Given the description of an element on the screen output the (x, y) to click on. 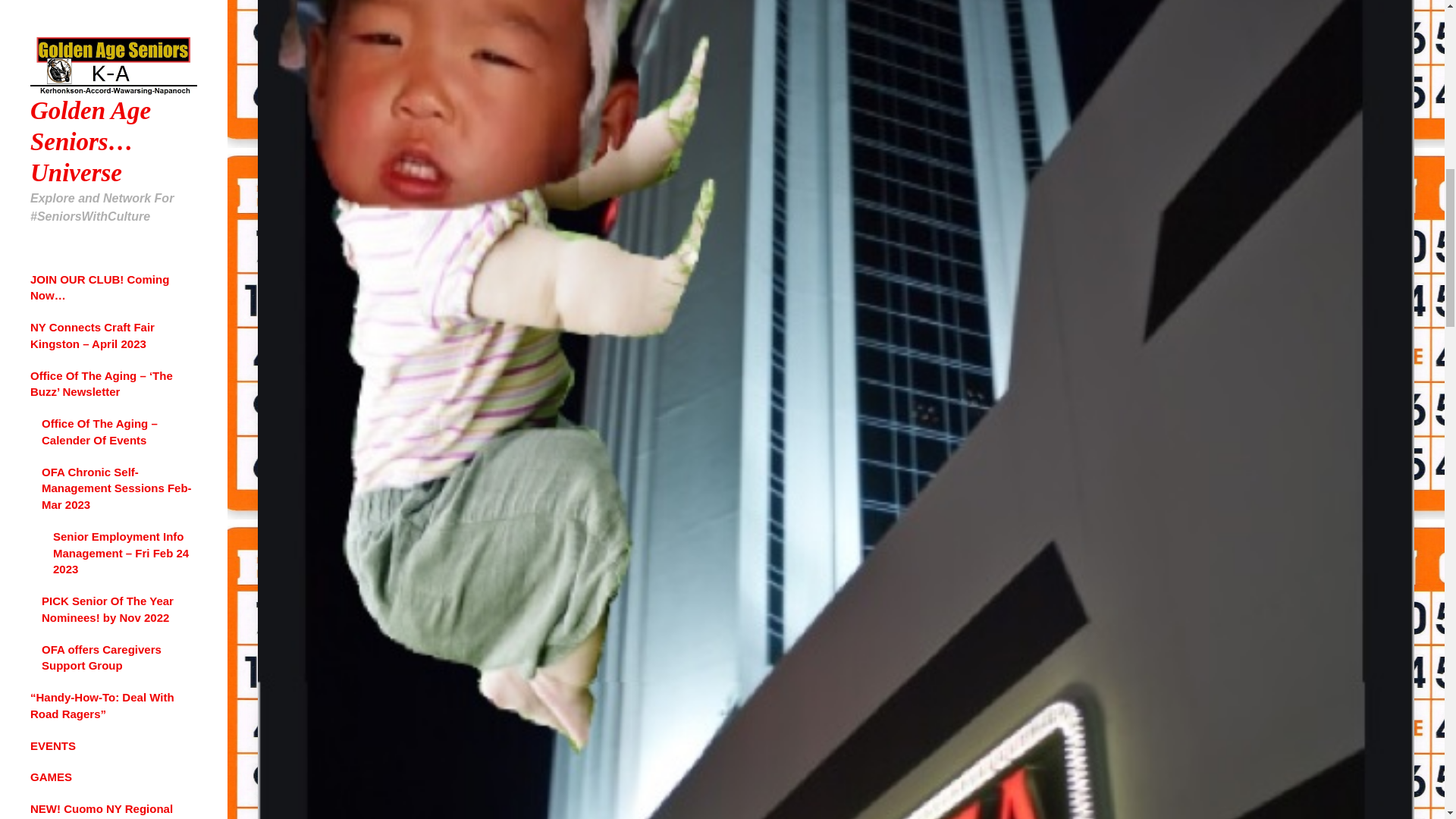
Play (50, 274)
EVENTS (89, 394)
MUSIC (89, 437)
GAMES (131, 394)
Local Music Artists (93, 117)
MUSIC (48, 85)
Mute (151, 274)
